Given the description of an element on the screen output the (x, y) to click on. 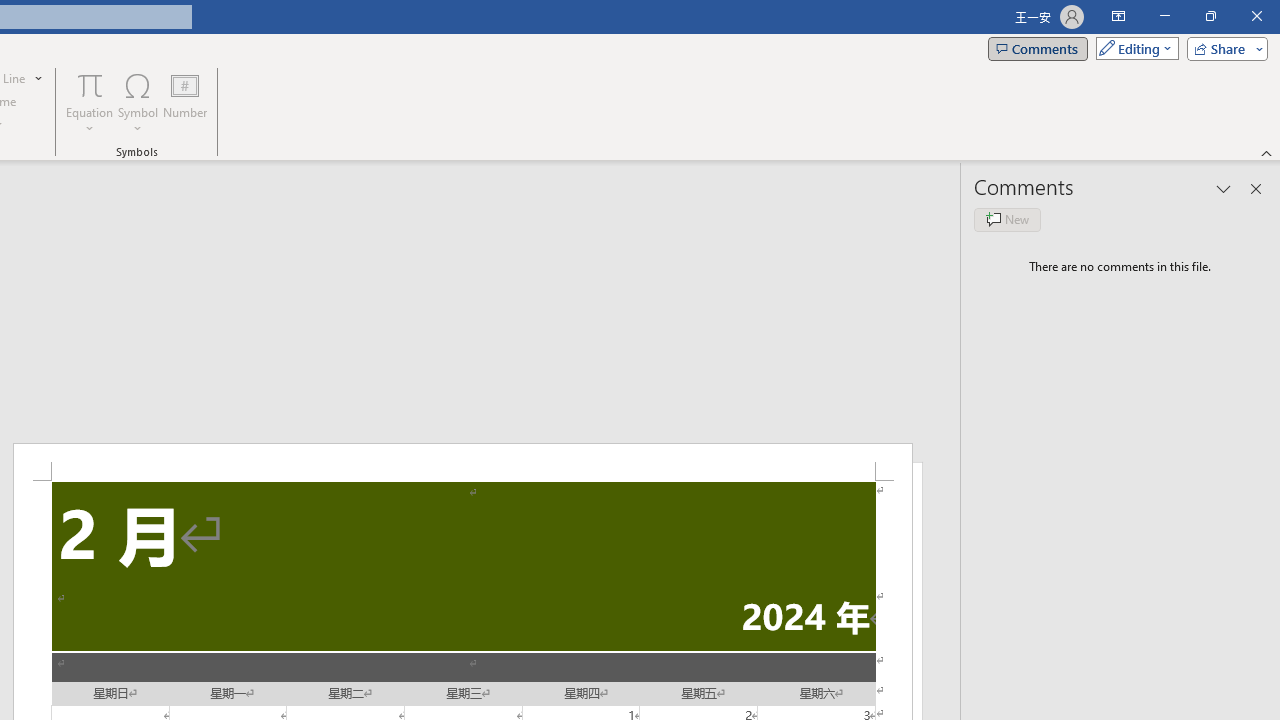
New comment (1007, 219)
Equation (90, 84)
Number... (185, 102)
Symbol (138, 102)
Header -Section 2- (462, 461)
Equation (90, 102)
